Given the description of an element on the screen output the (x, y) to click on. 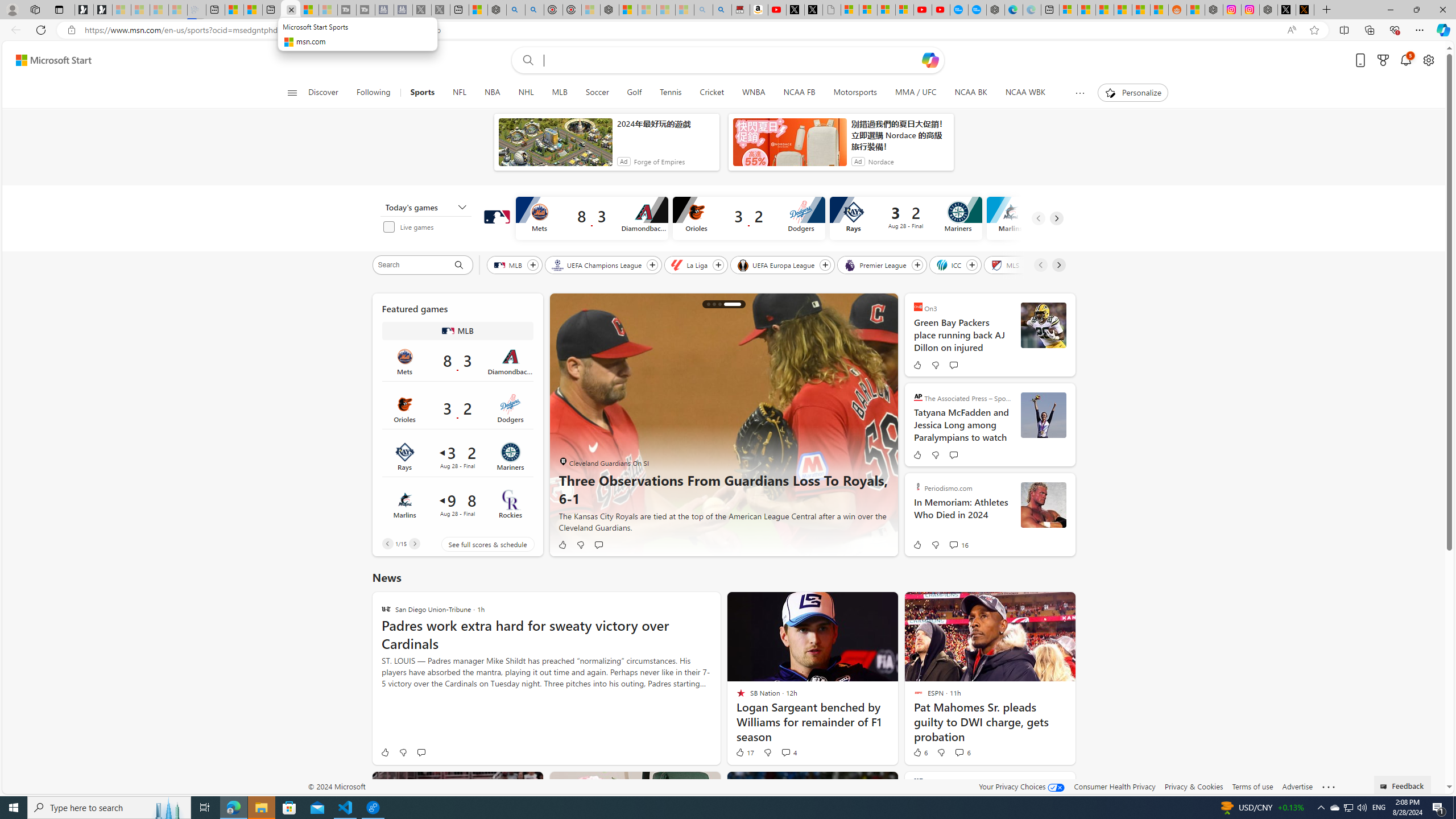
Forge of Empires (658, 161)
Shanghai, China Weather trends | Microsoft Weather (1159, 9)
Follow UEFA Champions League (652, 265)
Mets 8 vs Diamondbacks 3Time 9:40 AM  (456, 360)
Today's games (425, 207)
Soccer (597, 92)
In Memoriam: Athletes Who Died in 2024 (961, 514)
Tennis (670, 92)
Premier League (876, 264)
